Given the description of an element on the screen output the (x, y) to click on. 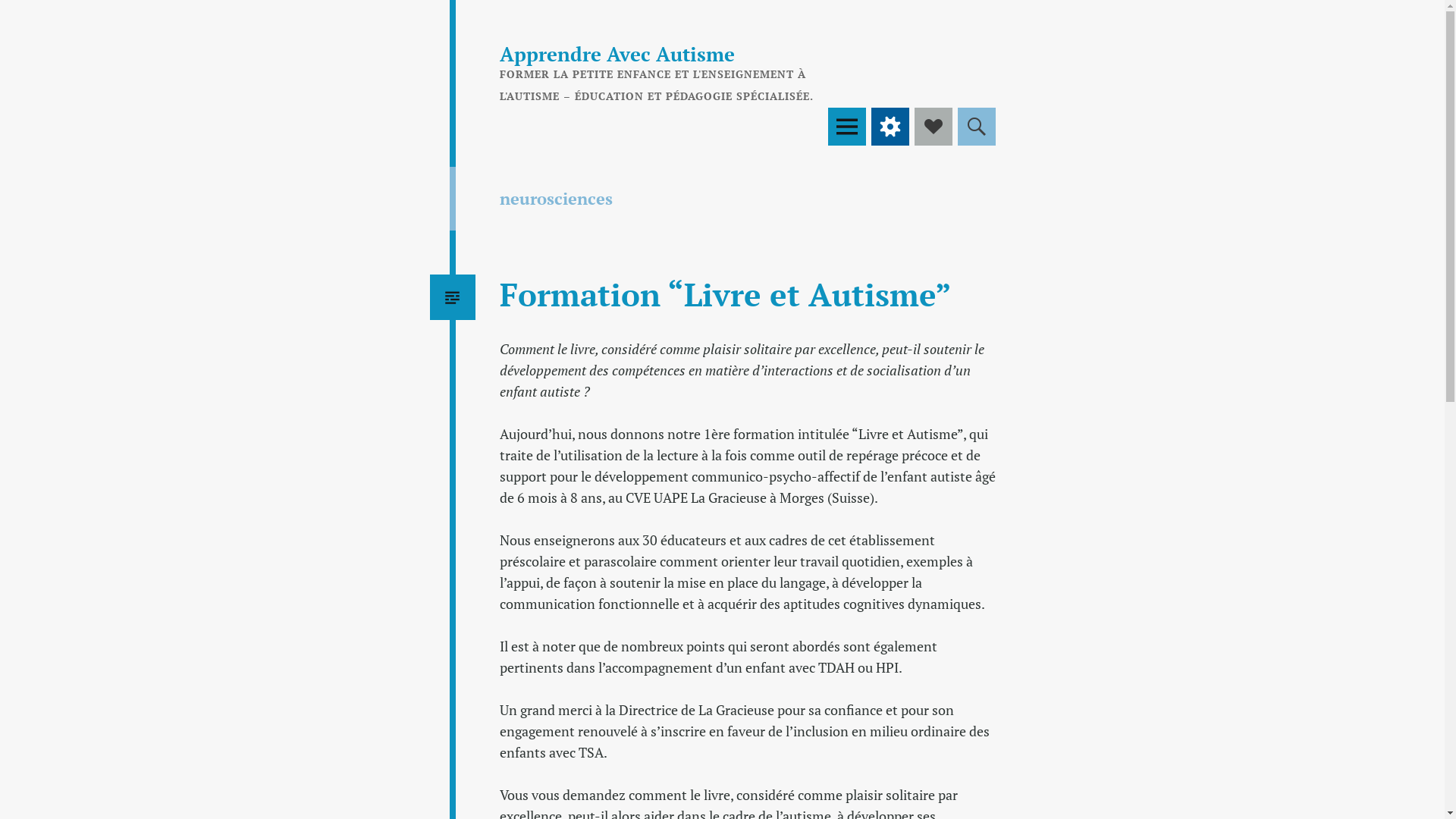
Apprendre Avec Autisme Element type: text (616, 53)
